Given the description of an element on the screen output the (x, y) to click on. 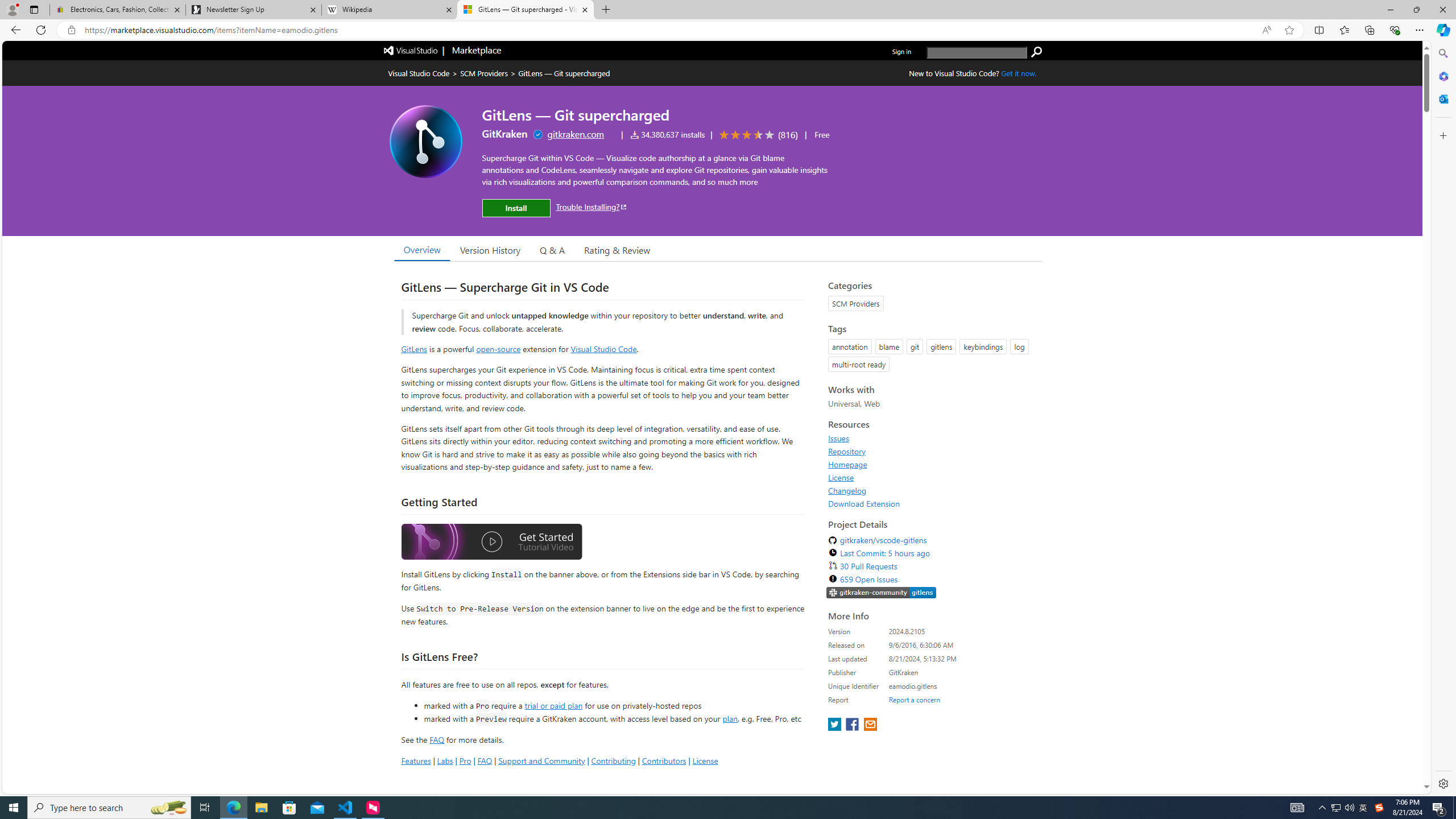
Labs (444, 760)
share extension on email (869, 725)
FAQ (484, 760)
plan (730, 718)
Repository (847, 451)
Sign in (901, 50)
